Given the description of an element on the screen output the (x, y) to click on. 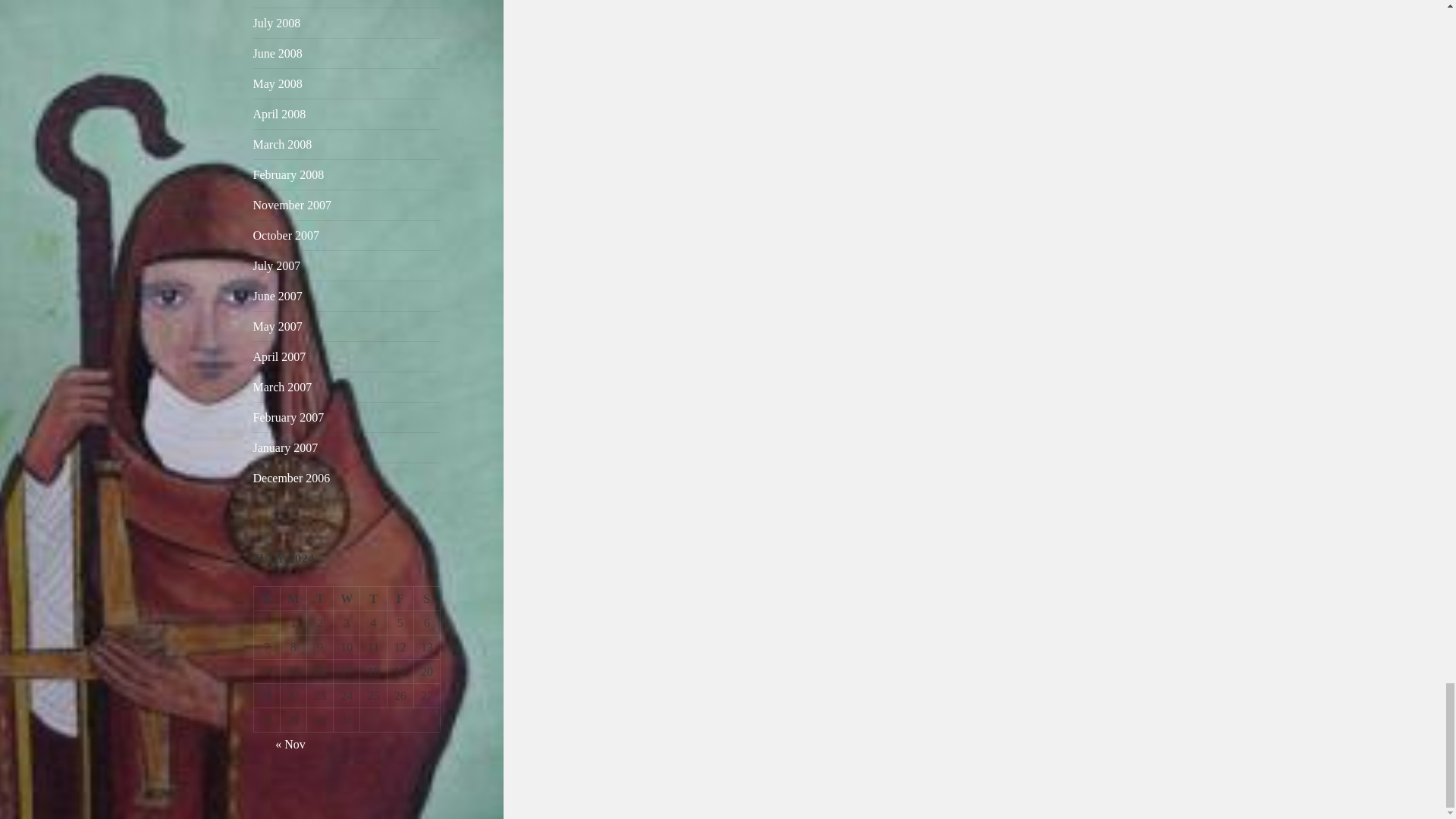
Friday (400, 598)
Thursday (373, 598)
Wednesday (346, 598)
Sunday (267, 598)
Monday (294, 598)
Tuesday (320, 598)
Saturday (427, 598)
